Given the description of an element on the screen output the (x, y) to click on. 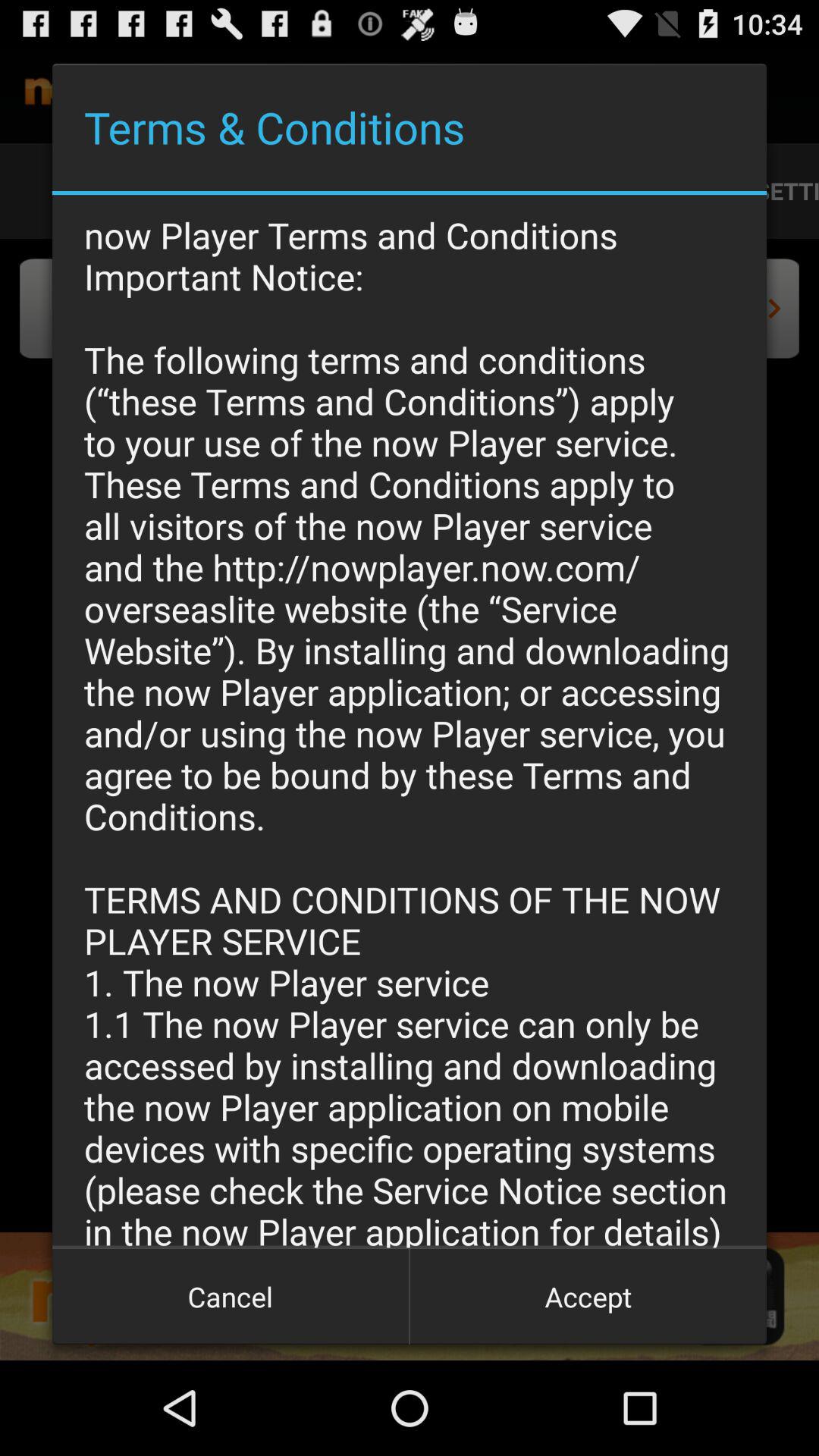
click the accept (588, 1296)
